Given the description of an element on the screen output the (x, y) to click on. 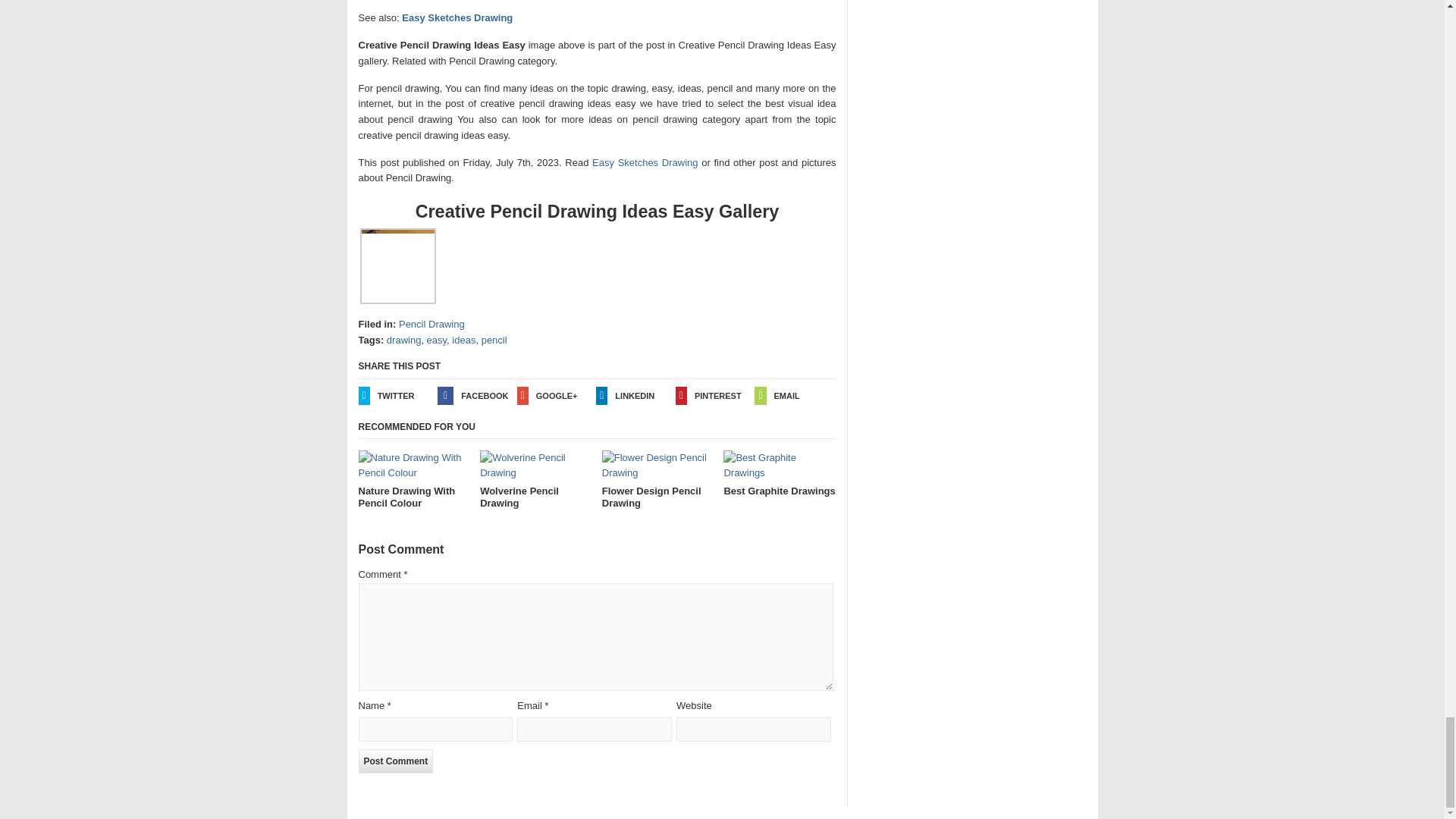
Post Comment (395, 761)
LINKEDIN (635, 395)
easy (436, 339)
ideas (463, 339)
drawing (404, 339)
Best Graphite Drawings (779, 473)
Easy Sketches Drawing (456, 17)
Easy Sketches Drawing (644, 162)
Post Comment (395, 761)
Nature Drawing With Pencil Colour (414, 480)
Flower Design Pencil Drawing (658, 480)
pencil (493, 339)
Wolverine Pencil Drawing (536, 480)
FACEBOOK (477, 395)
PINTEREST (715, 395)
